Given the description of an element on the screen output the (x, y) to click on. 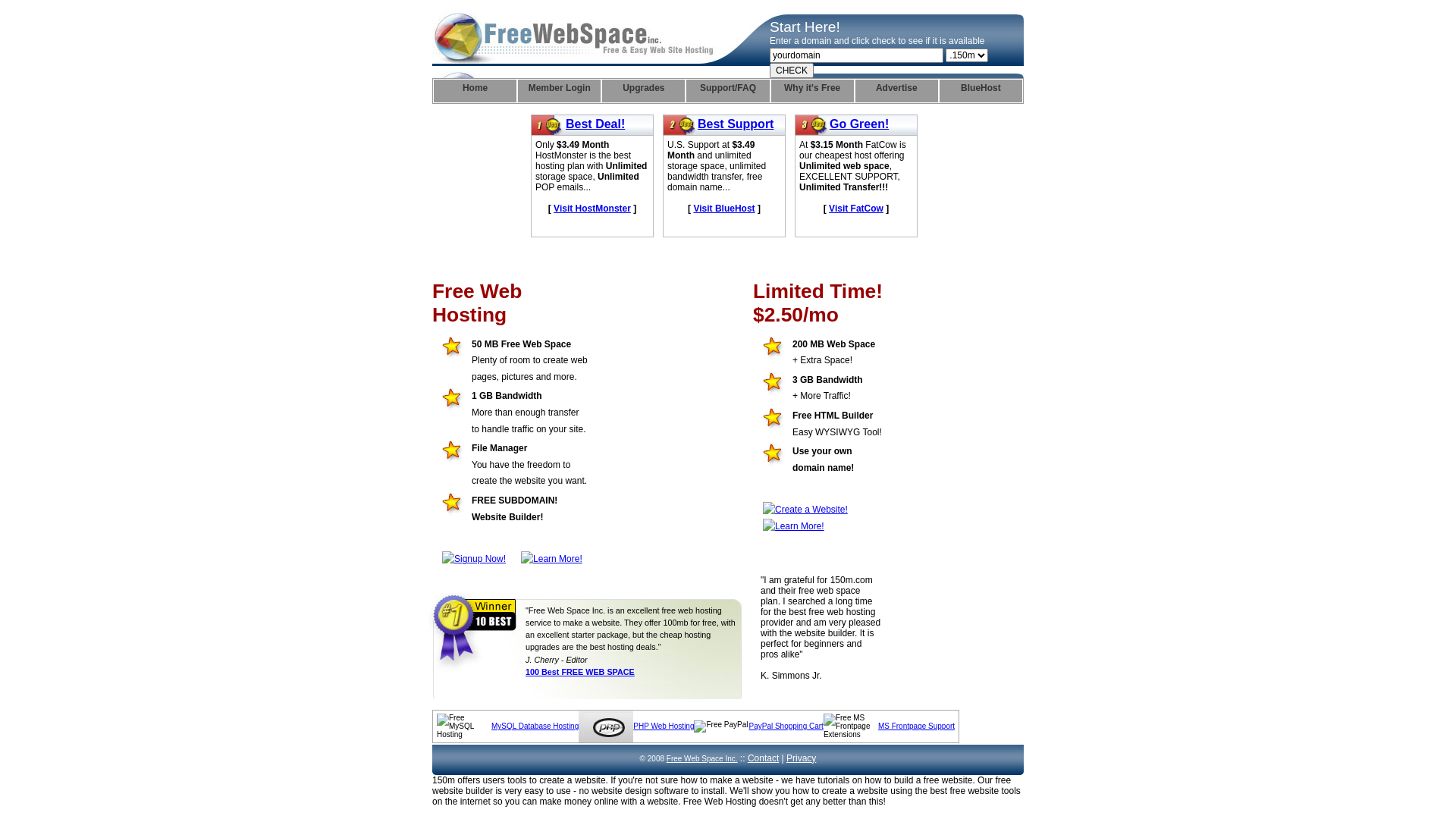
CHECK Element type: text (791, 70)
Free Web Space Inc. Element type: text (701, 758)
Support/FAQ Element type: text (727, 90)
Contact Element type: text (762, 758)
Home Element type: text (474, 90)
Upgrades Element type: text (643, 90)
BlueHost Element type: text (980, 90)
Privacy Element type: text (800, 758)
Why it's Free Element type: text (812, 90)
MS Frontpage Support Element type: text (916, 725)
Advertise Element type: text (896, 90)
MySQL Database Hosting Element type: text (534, 725)
Member Login Element type: text (558, 90)
PayPal Shopping Cart Element type: text (785, 725)
PHP Web Hosting Element type: text (663, 725)
100 Best FREE WEB SPACE Element type: text (579, 671)
